Given the description of an element on the screen output the (x, y) to click on. 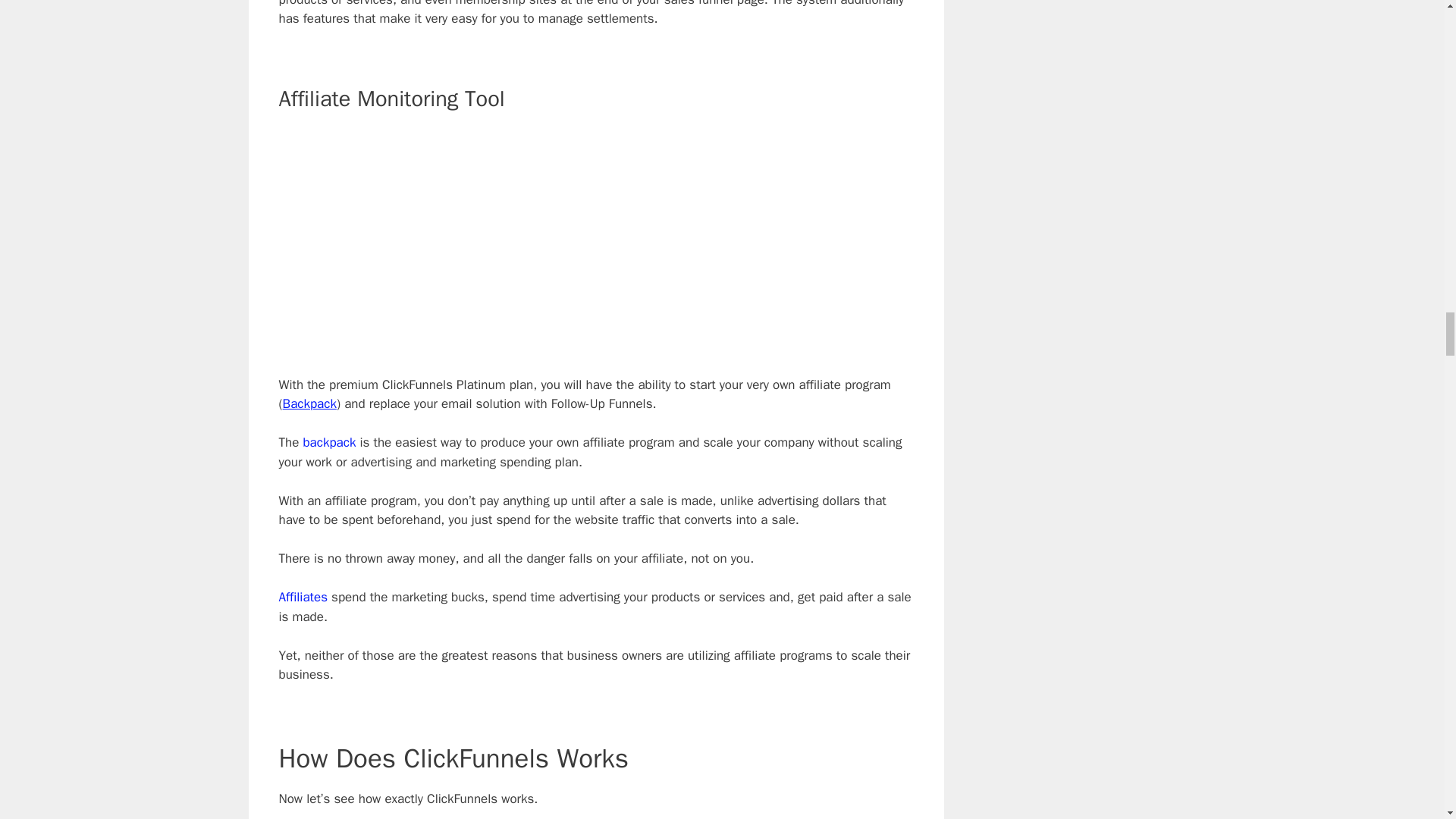
backpack (328, 442)
Affiliates (304, 596)
Backpack (309, 403)
